Given the description of an element on the screen output the (x, y) to click on. 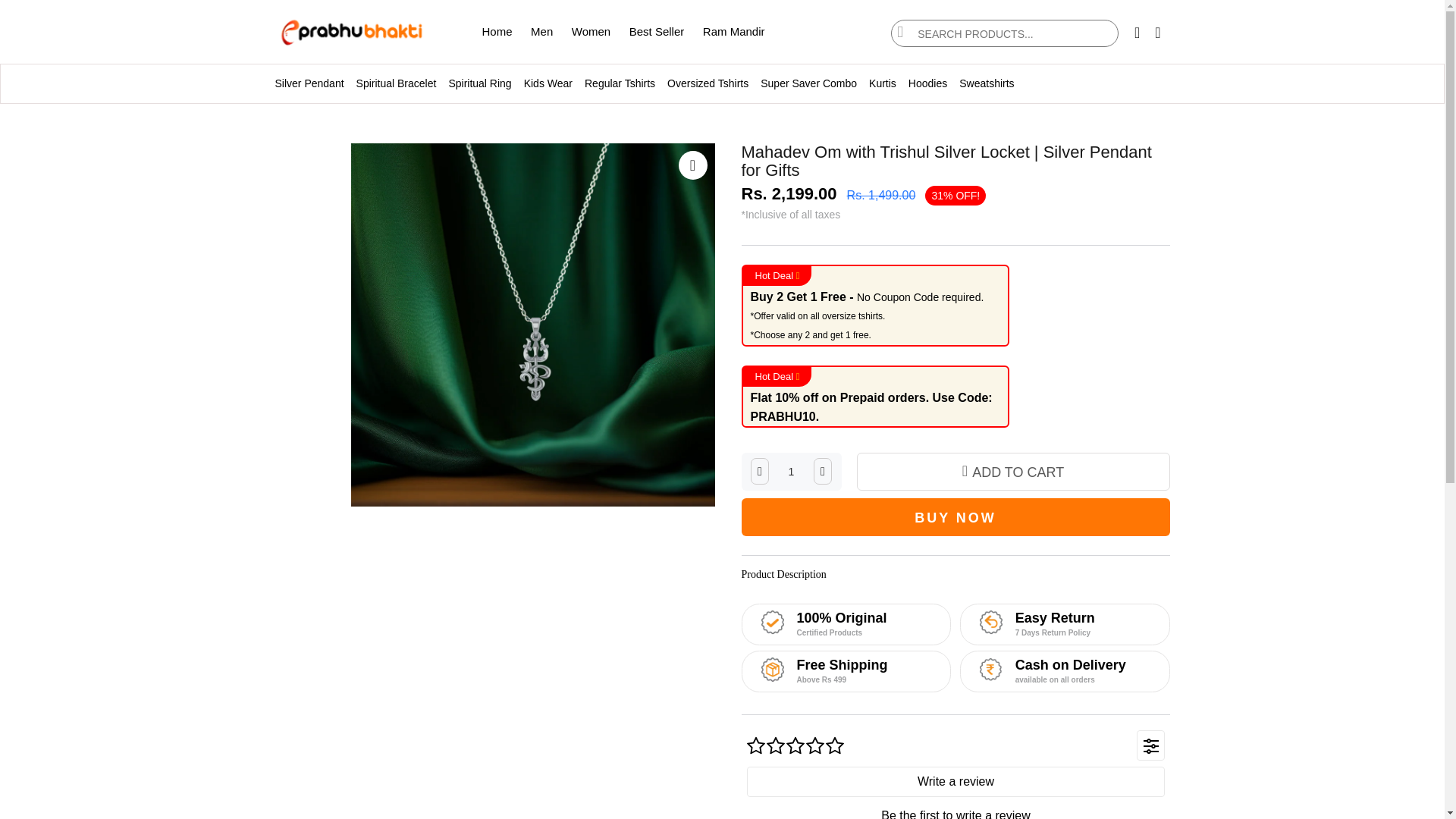
Product reviews widget (955, 766)
Home (496, 31)
Ram Mandir (734, 31)
Men (542, 31)
Regular Tshirts (619, 83)
Spiritual Ring (479, 83)
1 (791, 471)
Best Seller (656, 31)
Women (591, 31)
Silver Pendant (306, 83)
